Given the description of an element on the screen output the (x, y) to click on. 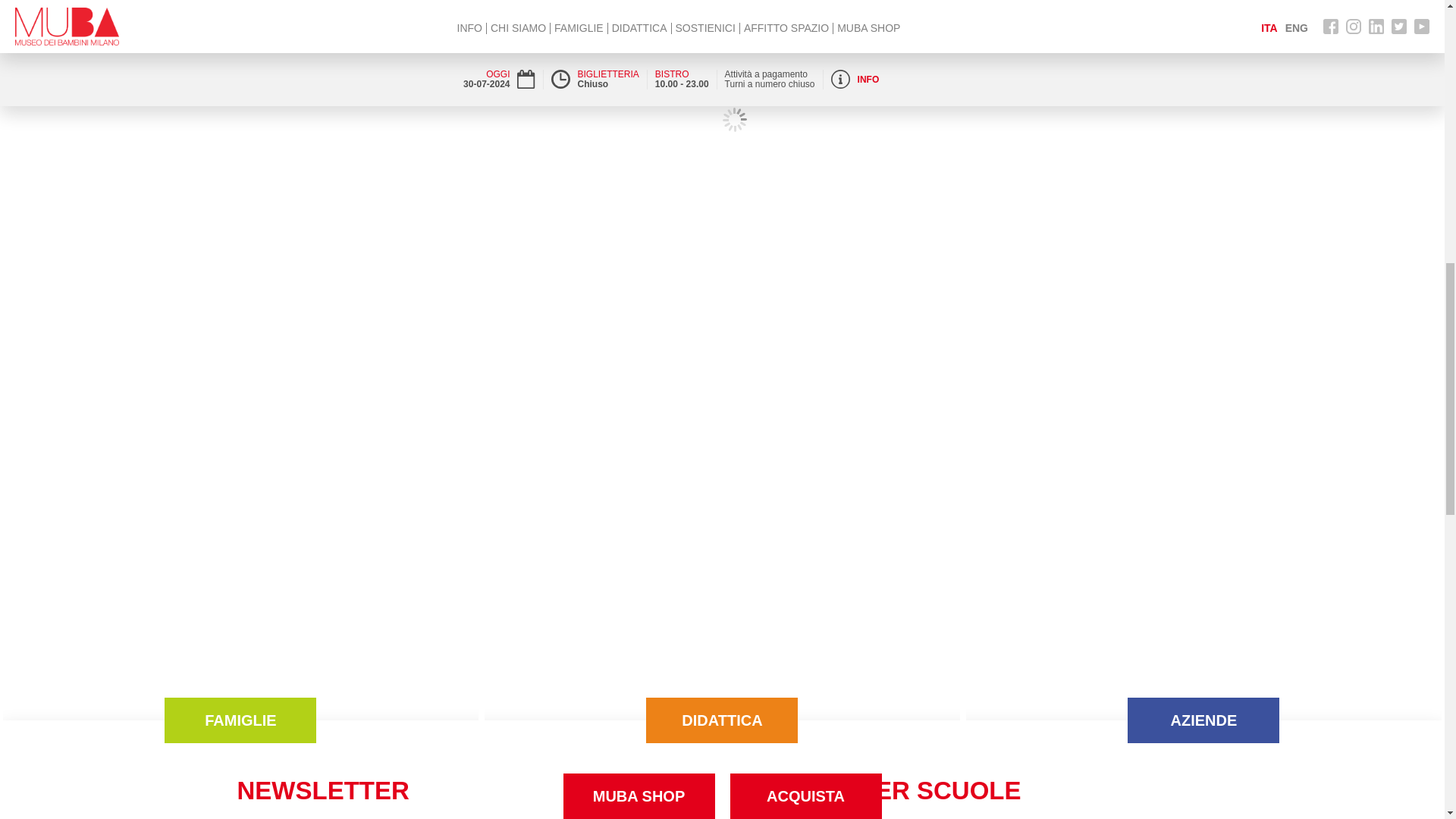
AZIENDE (1202, 719)
FAMIGLIE (239, 719)
DIDATTICA (721, 719)
